Given the description of an element on the screen output the (x, y) to click on. 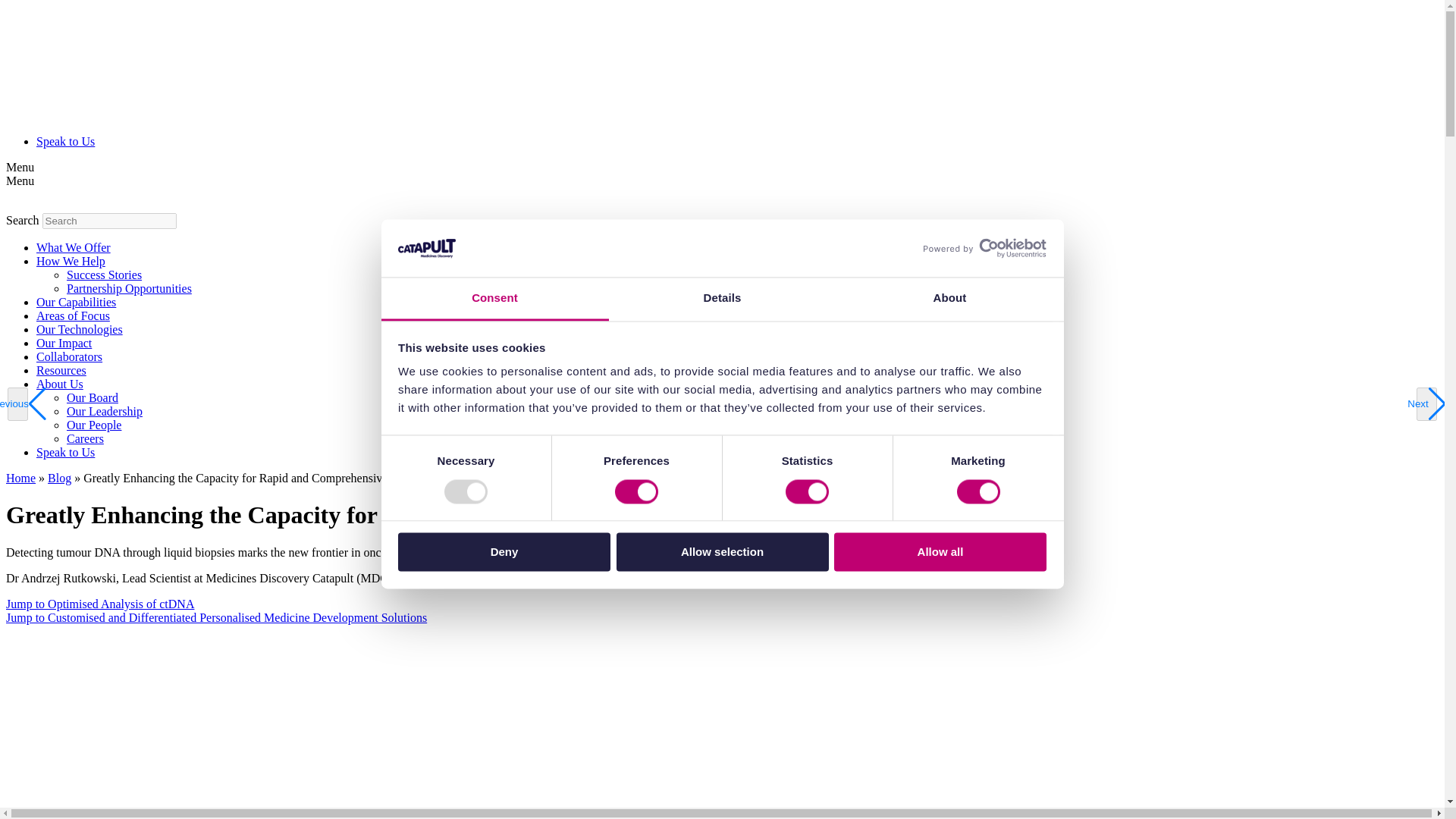
About (948, 299)
Consent (494, 299)
Details (721, 299)
